Given the description of an element on the screen output the (x, y) to click on. 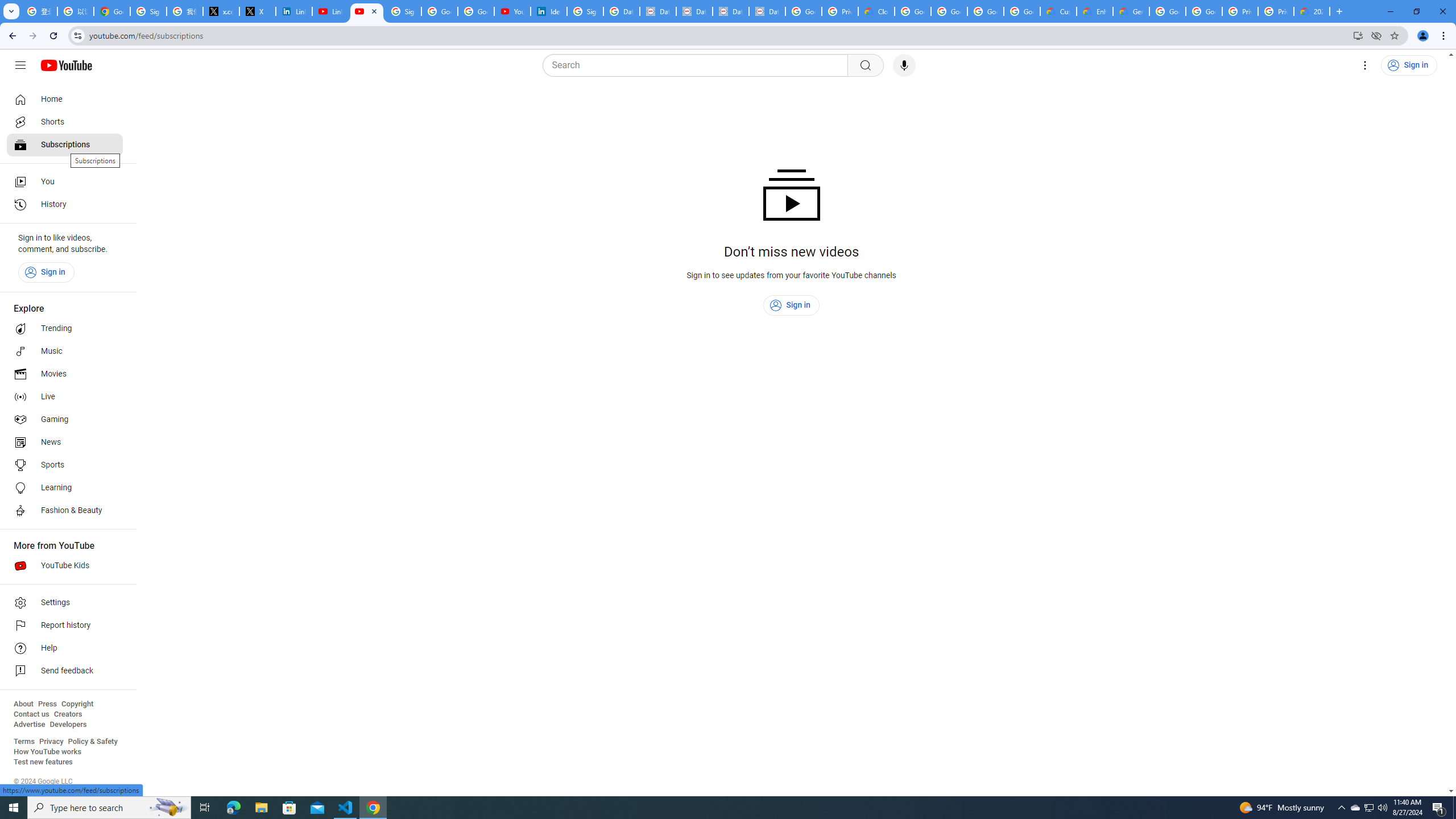
LinkedIn - YouTube (330, 11)
YouTube Kids (64, 565)
About (23, 703)
LinkedIn Privacy Policy (293, 11)
Report history (64, 625)
YouTube Home (66, 65)
Subscriptions (64, 144)
Gaming (64, 419)
